Given the description of an element on the screen output the (x, y) to click on. 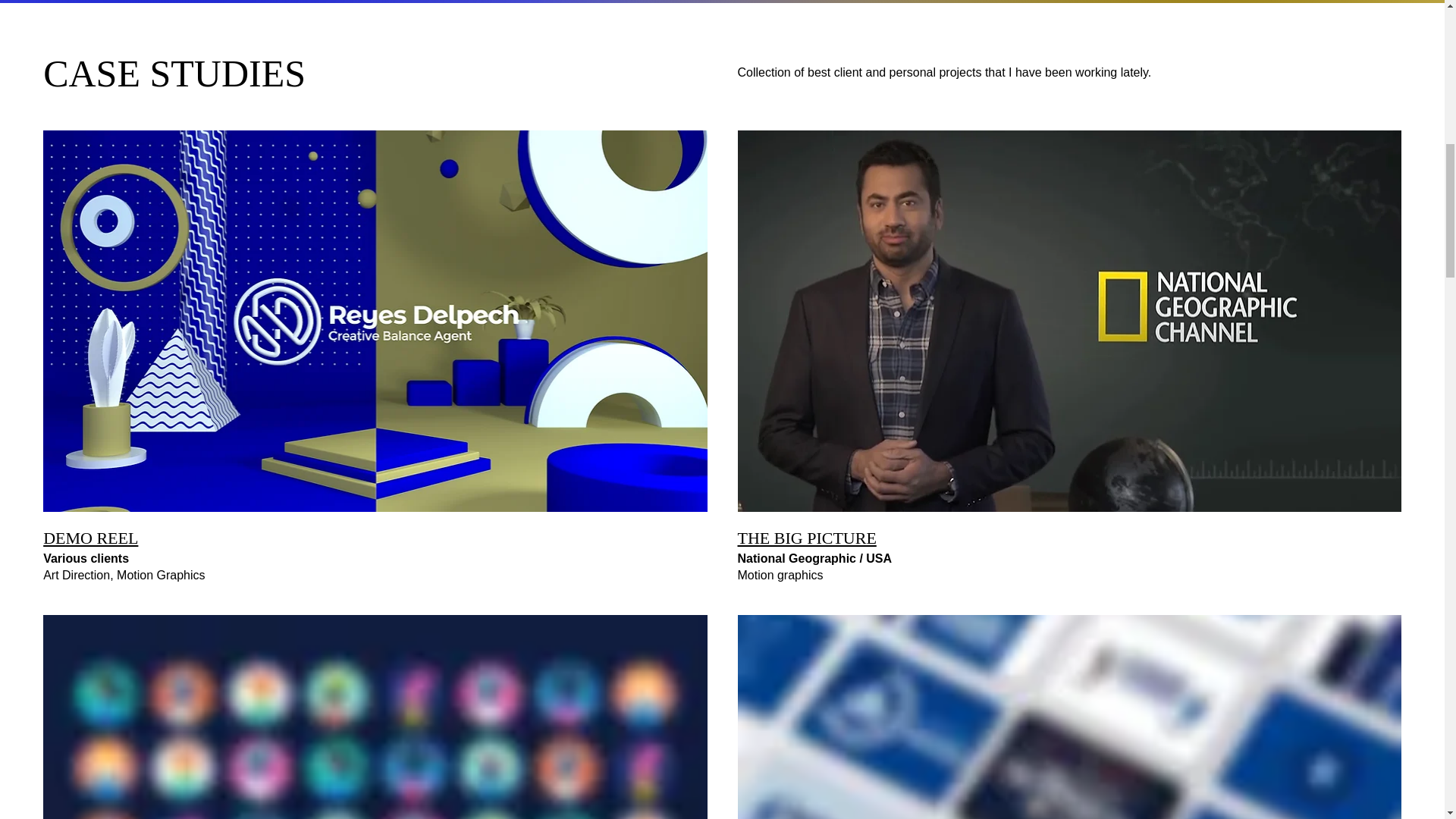
THE BIG PICTURE (806, 537)
DEMO REEL (90, 537)
